Given the description of an element on the screen output the (x, y) to click on. 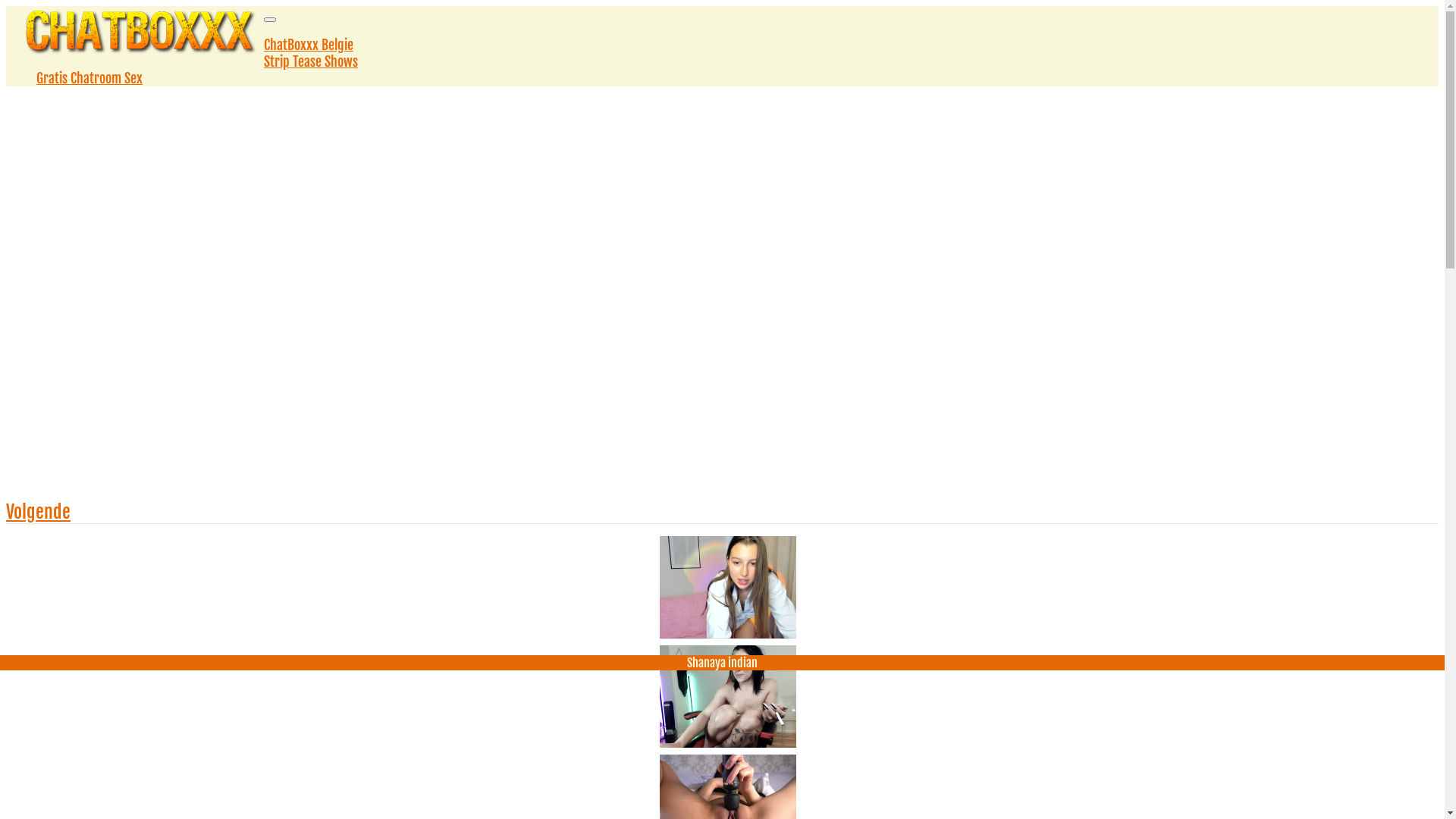
ChatBoxxx Belgie Element type: text (308, 44)
Gratis Chatroom Sex Element type: text (89, 77)
Strip Tease Shows Element type: text (310, 61)
Volgende Element type: text (38, 511)
